Given the description of an element on the screen output the (x, y) to click on. 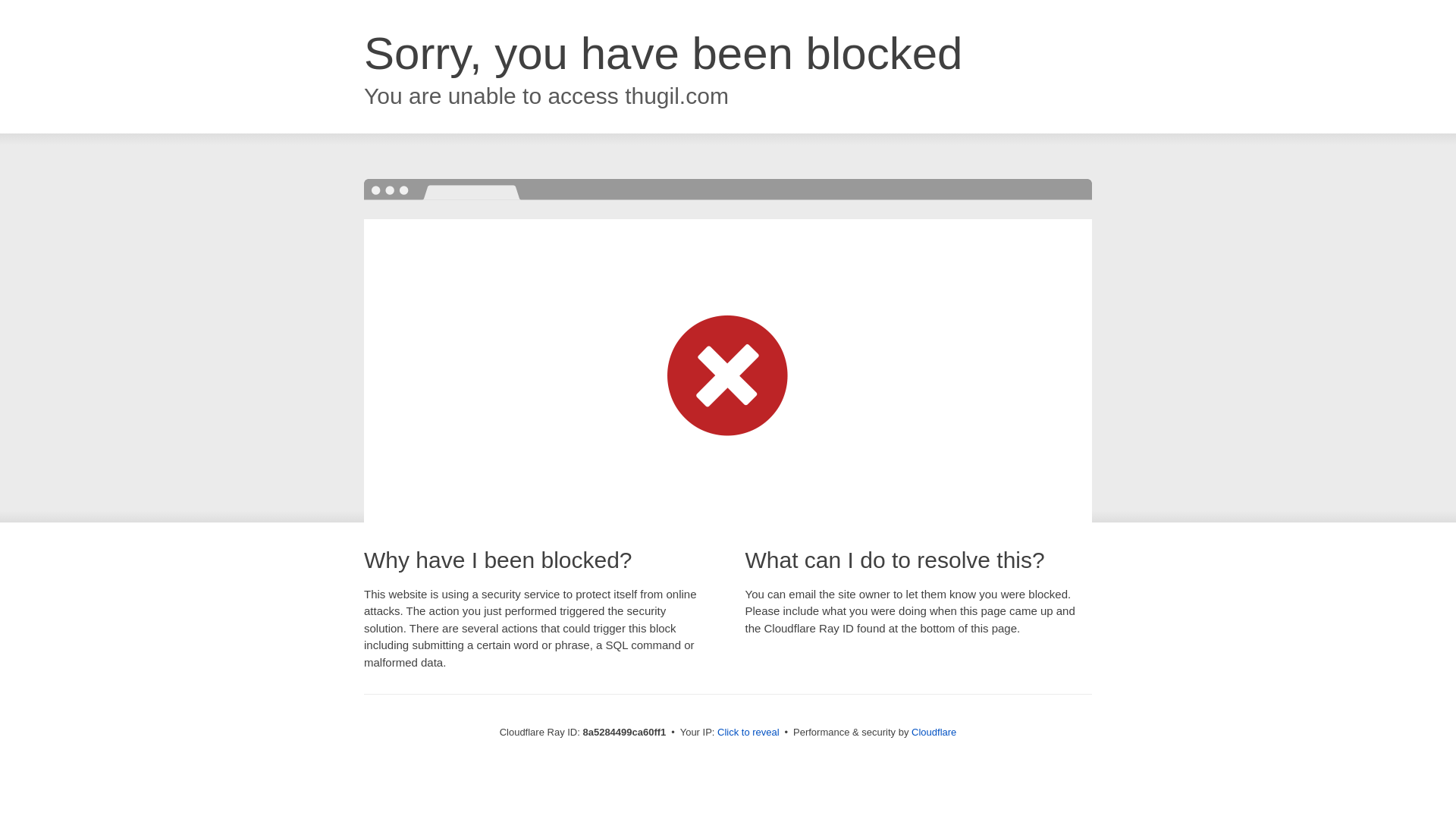
Cloudflare (933, 731)
Click to reveal (747, 732)
